Given the description of an element on the screen output the (x, y) to click on. 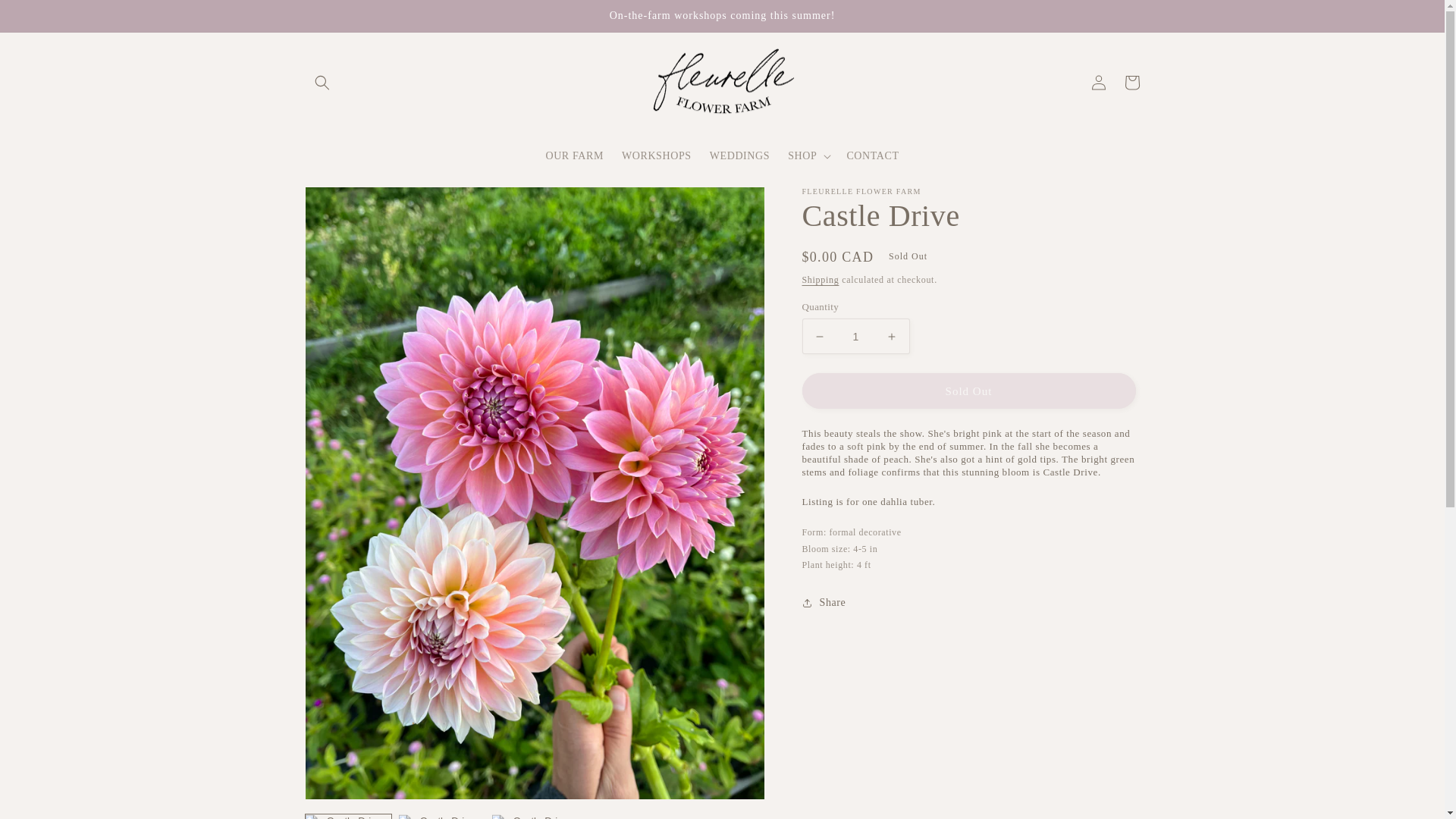
Shipping (821, 279)
OUR FARM (573, 155)
Skip to content (45, 17)
Log in (1098, 82)
WORKSHOPS (656, 155)
1 (856, 335)
Cart (1131, 82)
Sold Out (968, 390)
WEDDINGS (739, 155)
Decrease quantity for Castle Drive (818, 335)
